Given the description of an element on the screen output the (x, y) to click on. 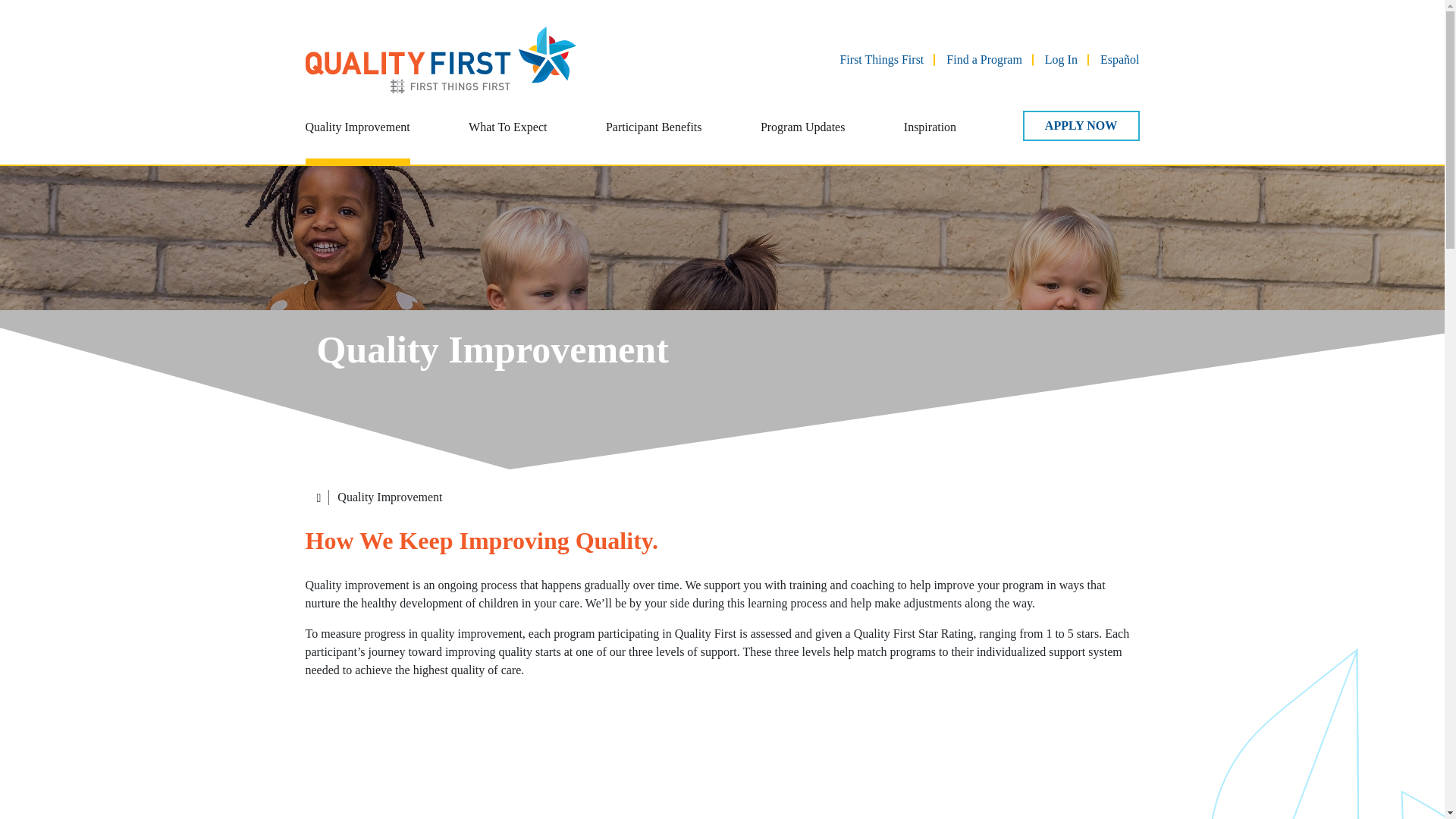
Program Updates (802, 137)
First Things First (881, 59)
Inspiration (930, 137)
Quality Improvement (356, 137)
First Things First (881, 59)
Participant Benefits (653, 137)
Find a Program (984, 59)
Find a Program (984, 59)
APPLY NOW (1080, 125)
Quality Improvement (356, 137)
